Given the description of an element on the screen output the (x, y) to click on. 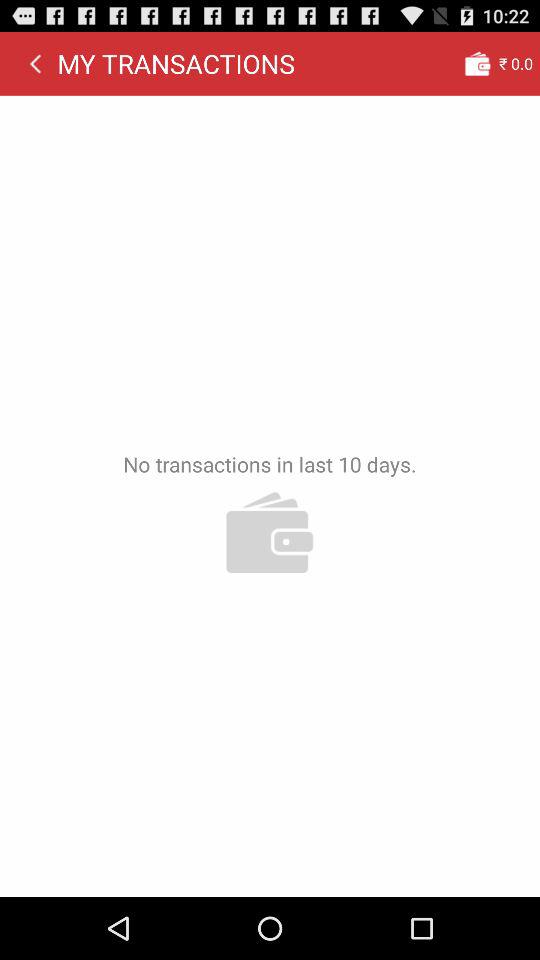
turn on icon next to my transactions app (35, 63)
